Given the description of an element on the screen output the (x, y) to click on. 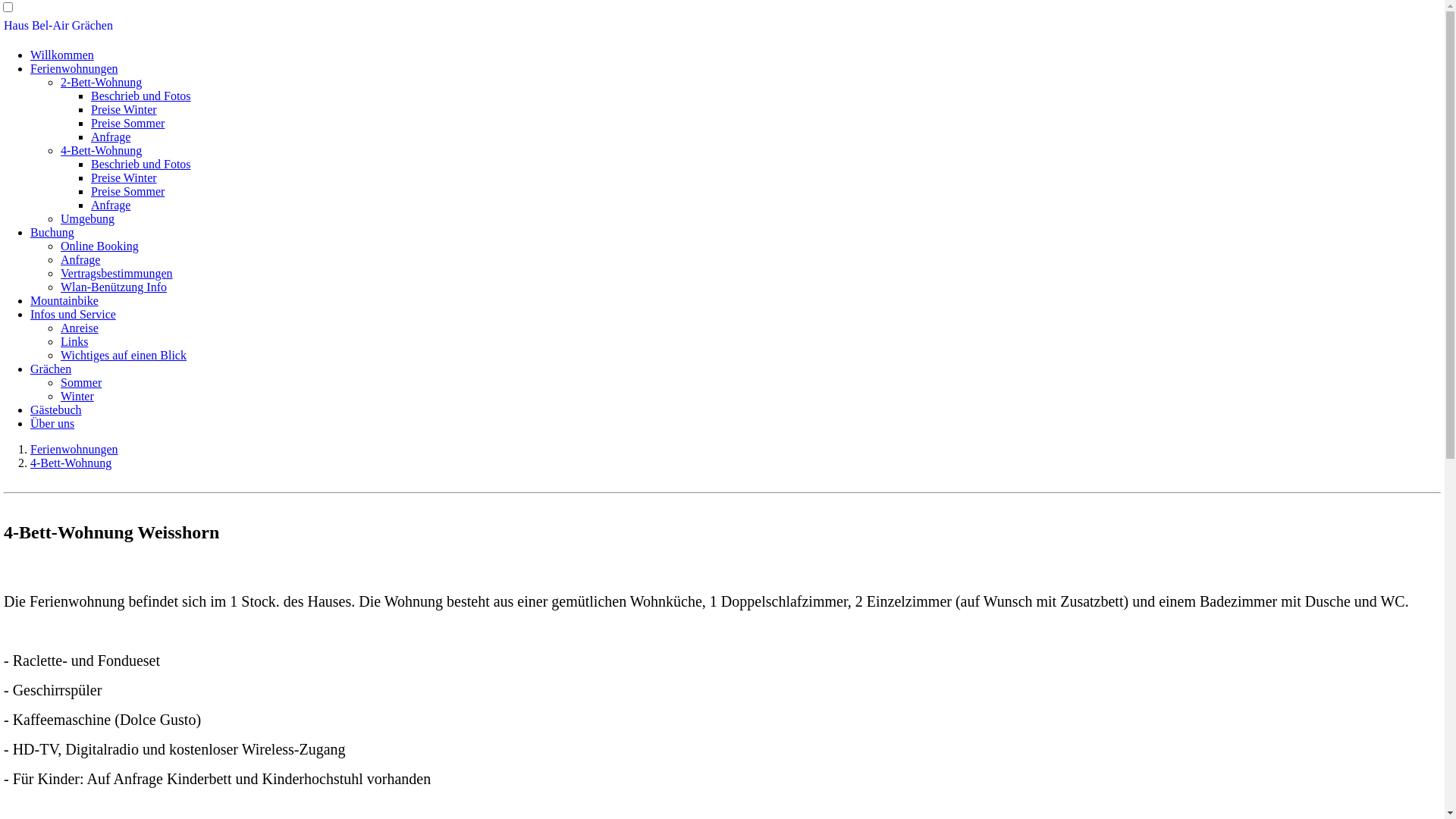
Buchung Element type: text (52, 231)
2-Bett-Wohnung Element type: text (100, 81)
Beschrieb und Fotos Element type: text (141, 163)
Umgebung Element type: text (87, 218)
Ferienwohnungen Element type: text (74, 448)
Anfrage Element type: text (110, 204)
4-Bett-Wohnung Element type: text (100, 150)
Willkommen Element type: text (62, 54)
Anfrage Element type: text (80, 259)
Anfrage Element type: text (110, 136)
Links Element type: text (73, 341)
Anreise Element type: text (79, 327)
4-Bett-Wohnung Element type: text (70, 462)
Online Booking Element type: text (99, 245)
Infos und Service Element type: text (73, 313)
Wichtiges auf einen Blick Element type: text (123, 354)
Preise Winter Element type: text (123, 109)
Preise Winter Element type: text (123, 177)
Vertragsbestimmungen Element type: text (116, 272)
Ferienwohnungen Element type: text (74, 68)
Preise Sommer Element type: text (127, 122)
Sommer Element type: text (80, 382)
Preise Sommer Element type: text (127, 191)
Beschrieb und Fotos Element type: text (141, 95)
Winter Element type: text (77, 395)
Mountainbike Element type: text (64, 300)
